Given the description of an element on the screen output the (x, y) to click on. 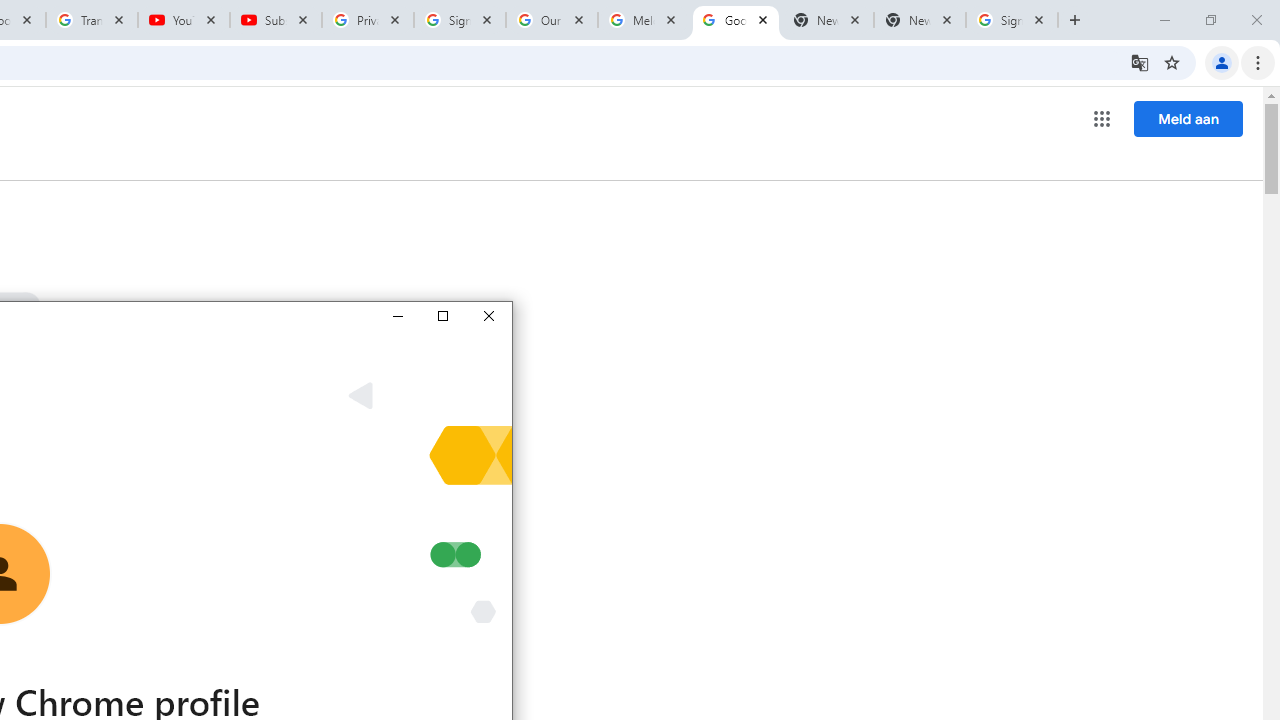
New Tab (920, 20)
YouTube (184, 20)
Google-programme (1101, 118)
Meld aan (1188, 118)
Subscriptions - YouTube (276, 20)
Sign in - Google Accounts (1012, 20)
Translate this page (1139, 62)
Sign in - Google Accounts (459, 20)
